Given the description of an element on the screen output the (x, y) to click on. 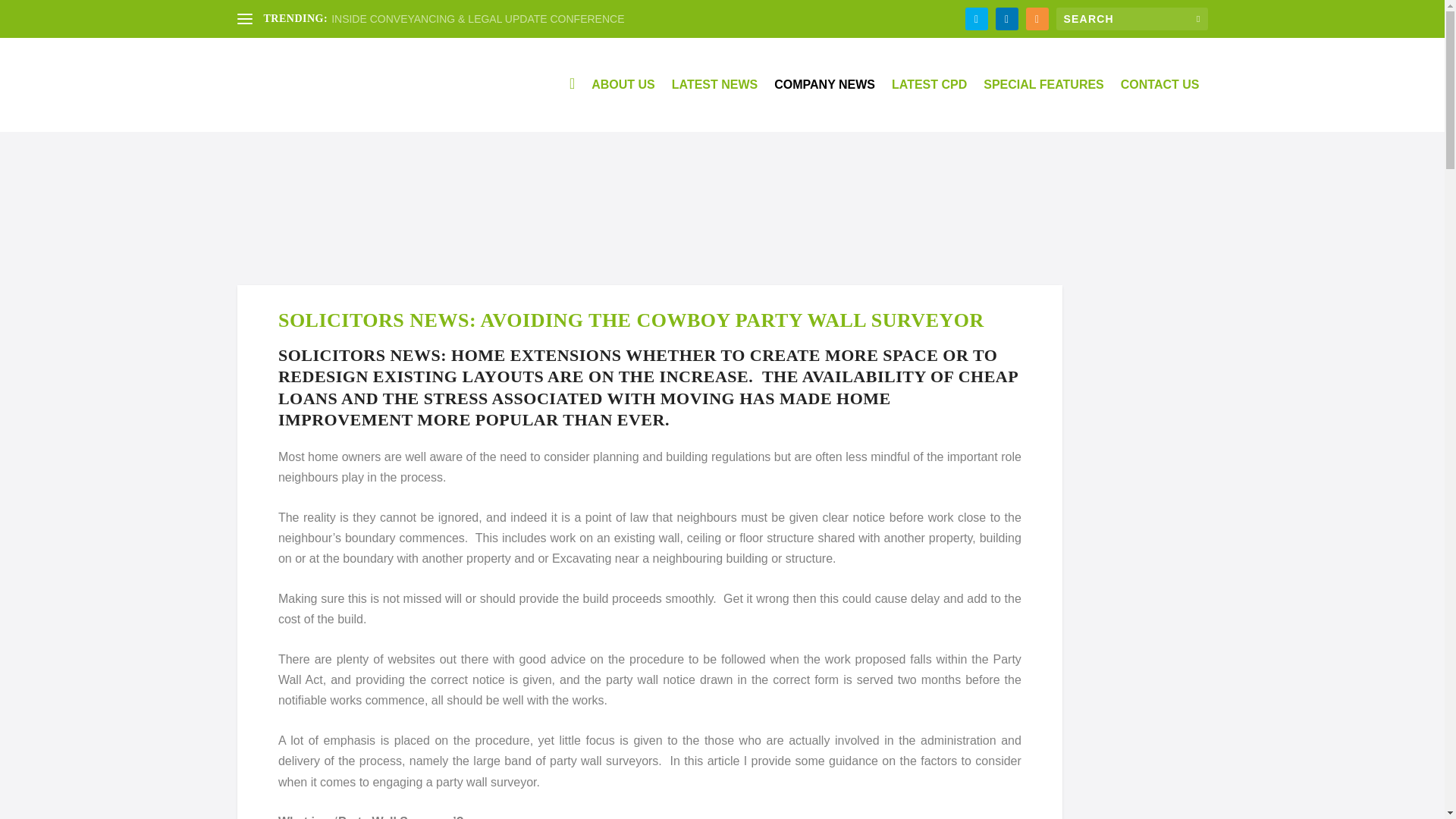
LATEST NEWS (714, 104)
COMPANY NEWS (824, 104)
ABOUT US (623, 104)
SPECIAL FEATURES (1043, 104)
LATEST CPD (928, 104)
CONTACT US (1160, 104)
Search for: (1131, 18)
